Given the description of an element on the screen output the (x, y) to click on. 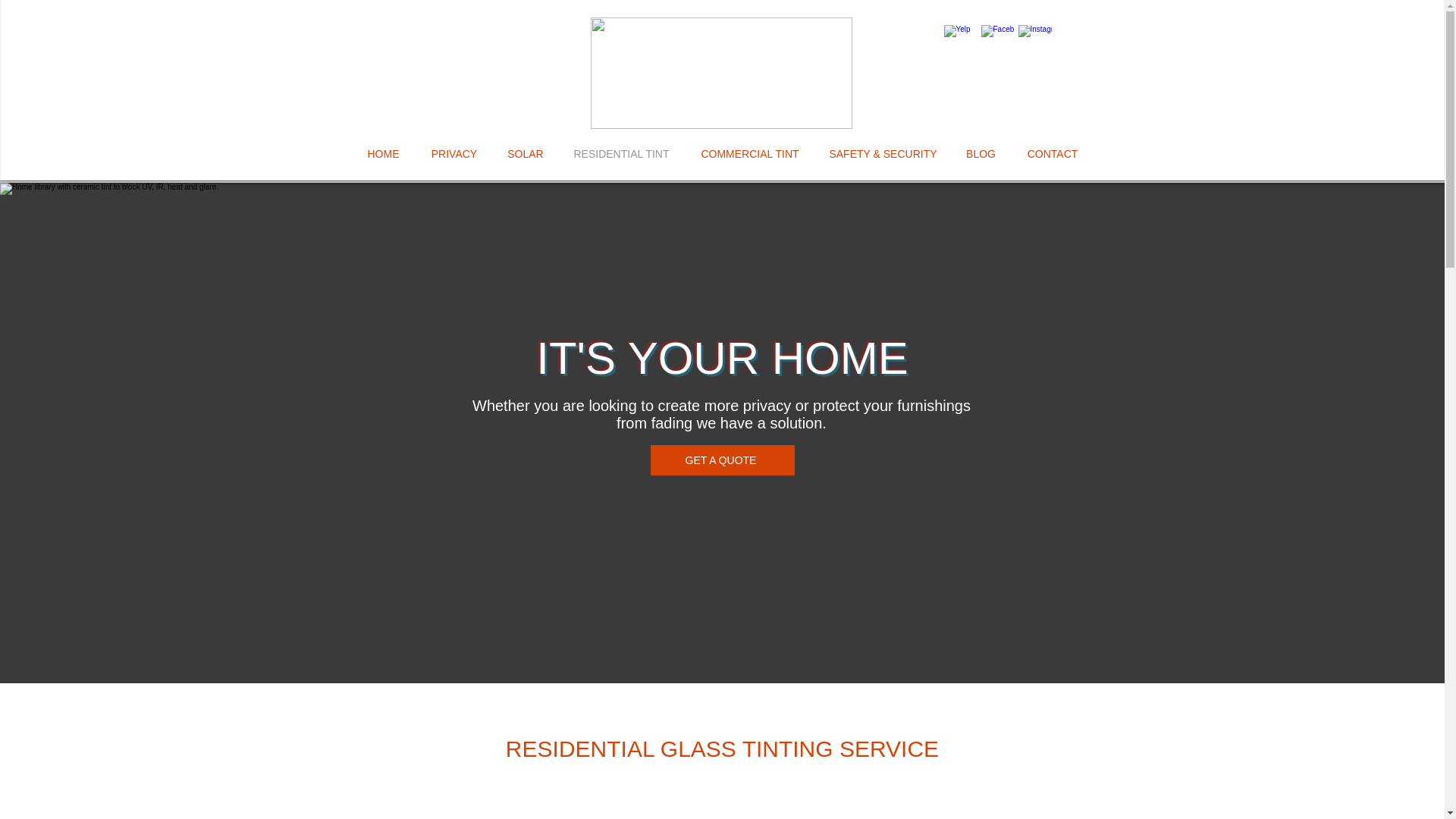
SOLAR (526, 153)
PRIVACY (453, 153)
RESIDENTIAL TINT (620, 153)
COMMERCIAL TINT (749, 153)
HOME (109, 228)
blog-logo.jpg (720, 72)
GET A QUOTE (722, 460)
BLOG (980, 153)
CONTACT (1052, 153)
HOME (382, 153)
